Given the description of an element on the screen output the (x, y) to click on. 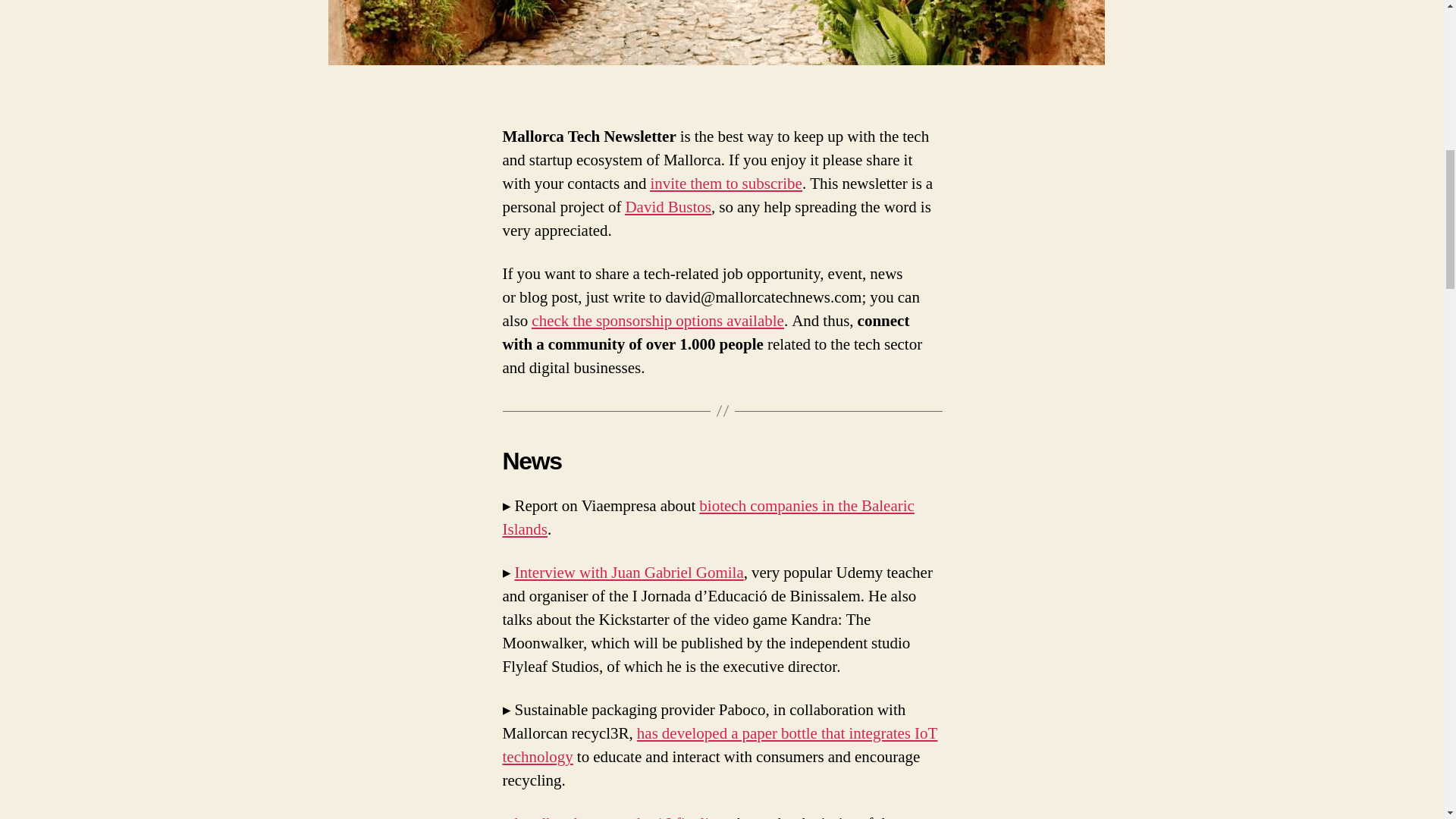
invite them to subscribe (725, 183)
has developed a paper bottle that integrates IoT technology (719, 745)
biotech companies in the Balearic Islands (708, 517)
David Bustos (667, 207)
Interview with Juan Gabriel Gomila (627, 572)
hotelbreak among the 16 finalists (619, 816)
check the sponsorship options available (657, 321)
